Given the description of an element on the screen output the (x, y) to click on. 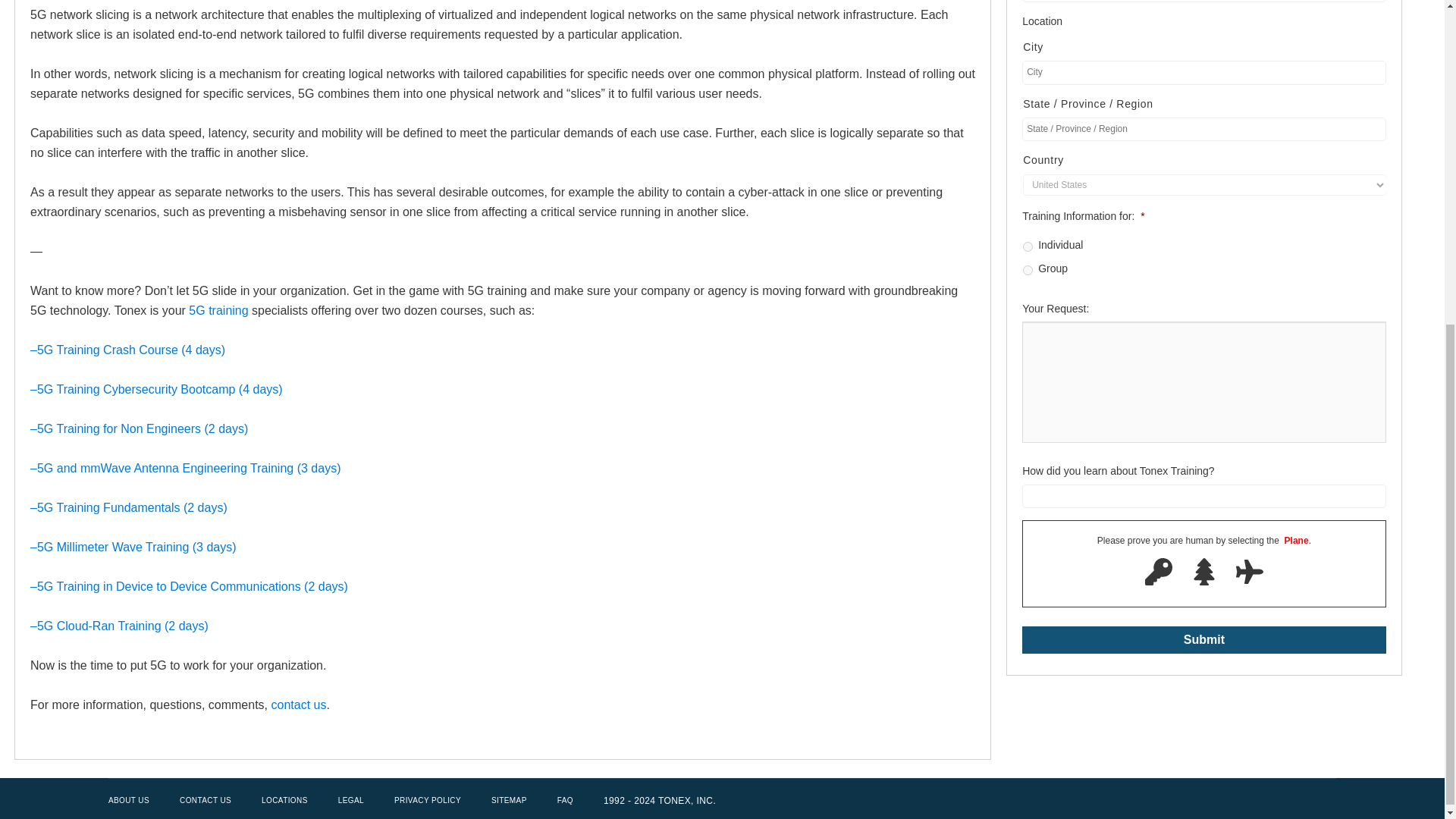
LinkedIn (1296, 801)
Twitter (1242, 801)
RSS Feed (1324, 801)
Facebook (1270, 801)
Submit (1204, 639)
